Given the description of an element on the screen output the (x, y) to click on. 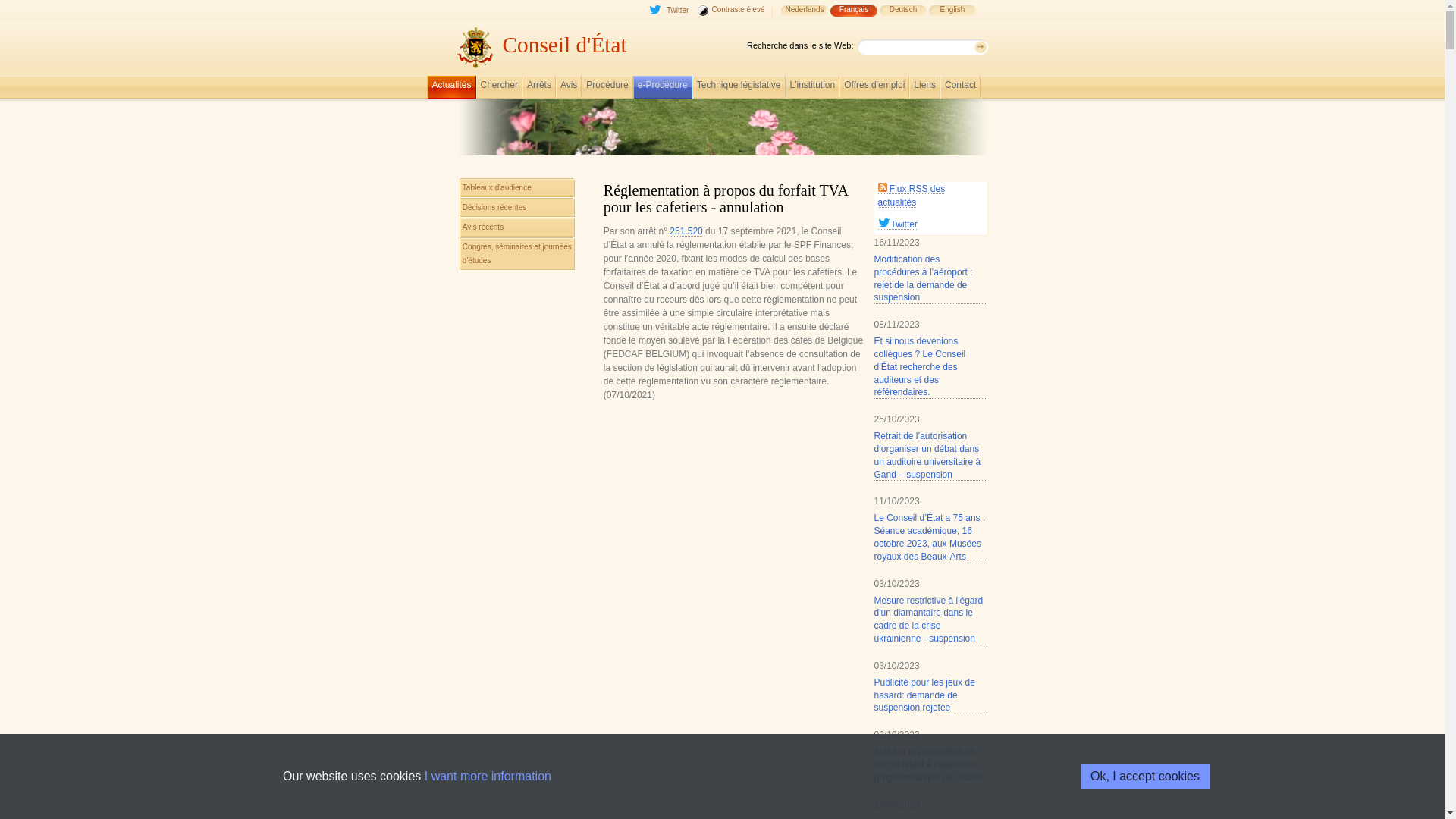
Liens Element type: text (924, 88)
Contact Element type: text (959, 88)
Chercher Element type: text (498, 88)
OK Element type: text (979, 46)
L'institution Element type: text (812, 88)
Nederlands Element type: text (803, 16)
Ok, I accept cookies Element type: text (1144, 776)
Avis Element type: text (568, 88)
  Element type: text (771, 16)
251.520 Element type: text (685, 230)
English Element type: text (952, 16)
Tableaux d'audience Element type: text (517, 187)
Offres d'emploi Element type: text (874, 88)
Deutsch Element type: text (902, 16)
I want more information Element type: text (487, 775)
